Given the description of an element on the screen output the (x, y) to click on. 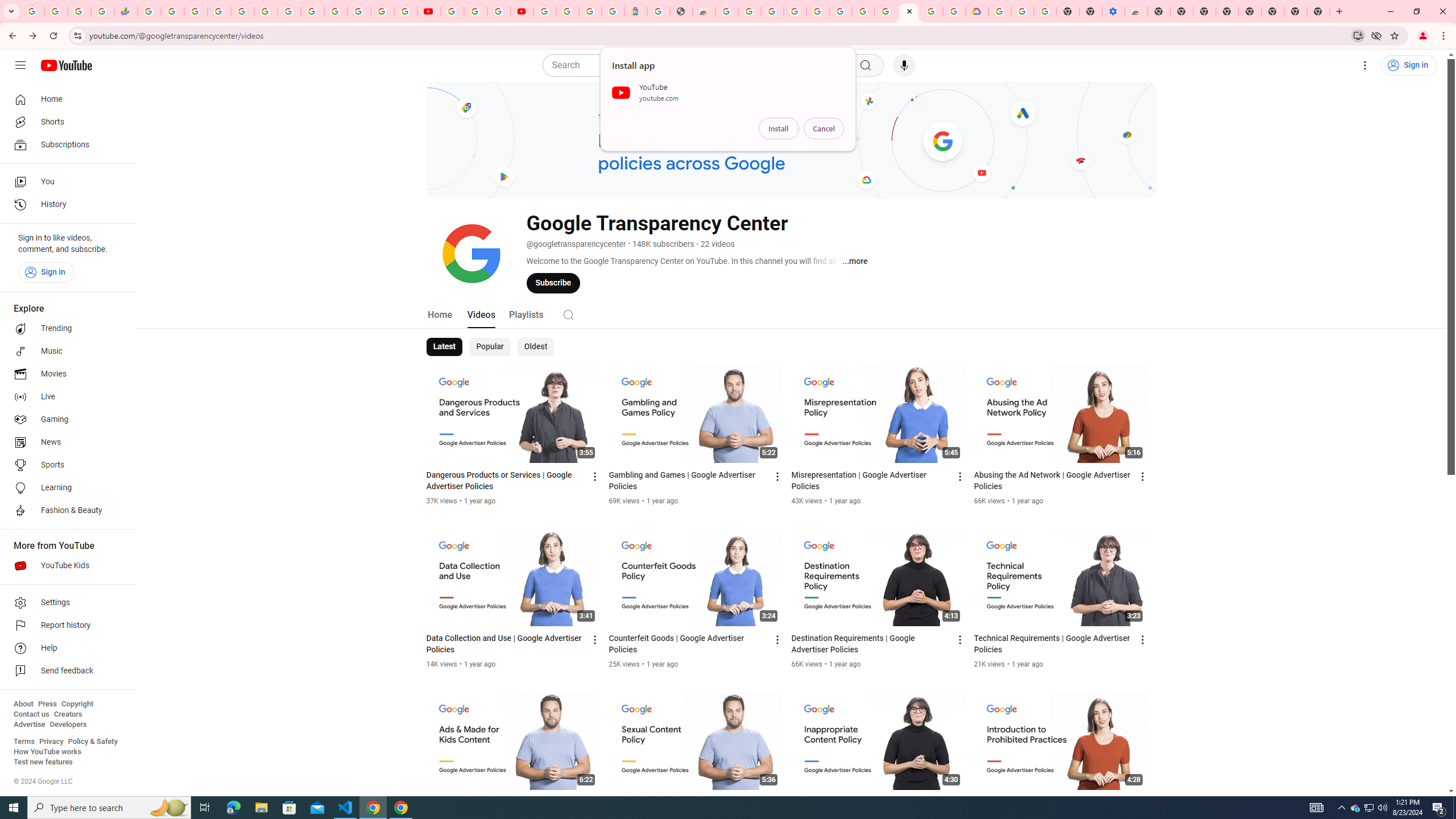
New Tab (1158, 11)
Press (46, 703)
History (64, 204)
Trending (64, 328)
YouTube Kids (64, 565)
Browse the Google Chrome Community - Google Chrome Community (954, 11)
Create your Google Account (931, 11)
Videos (481, 314)
Settings (1365, 65)
Chrome Web Store - Accessibility extensions (1136, 11)
Google Account Help (863, 11)
Search (697, 65)
